Given the description of an element on the screen output the (x, y) to click on. 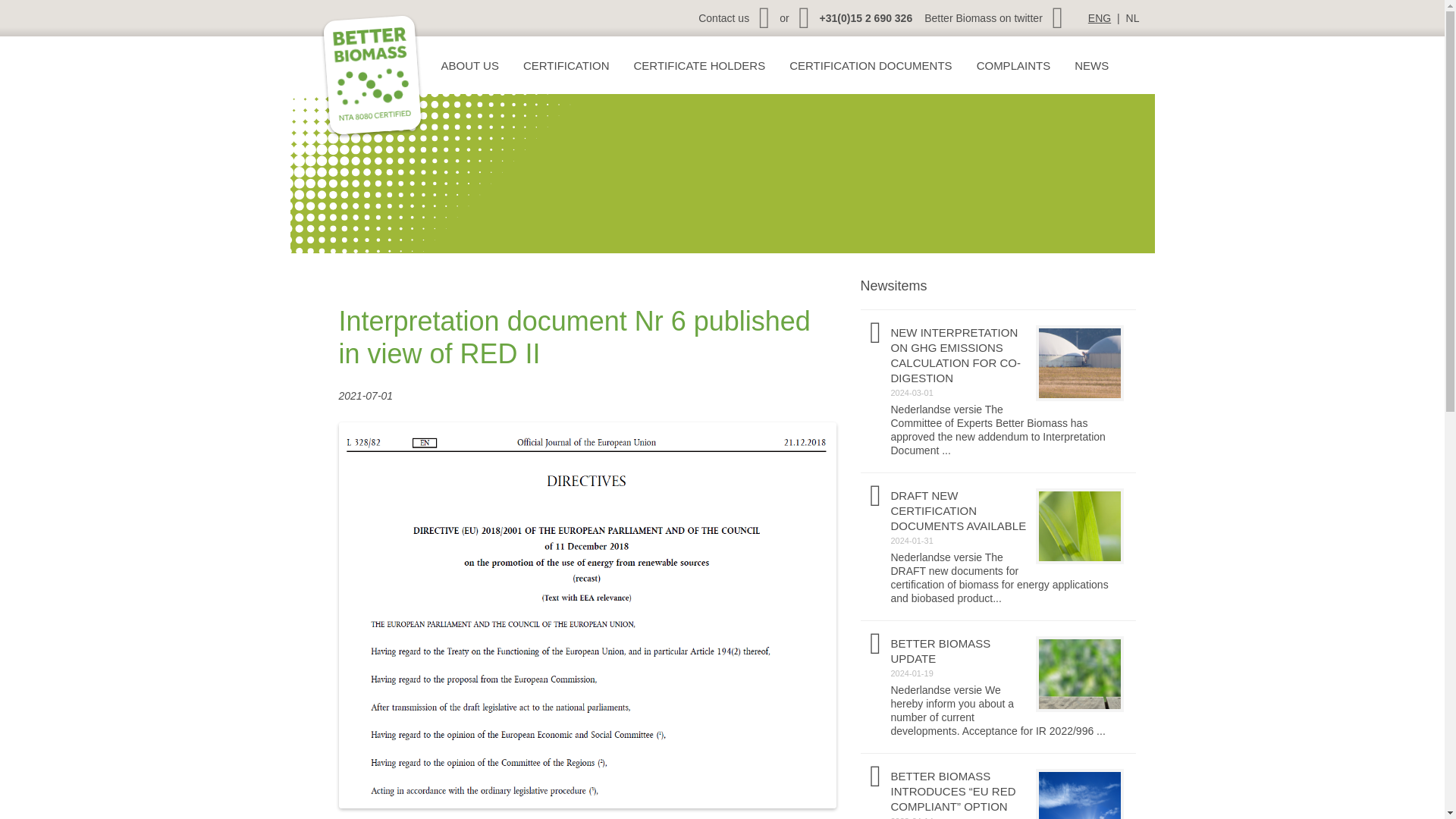
BETTER BIOMASS UPDATE (997, 651)
NEWS (1090, 65)
DRAFT NEW CERTIFICATION DOCUMENTS AVAILABLE (997, 510)
CERTIFICATION DOCUMENTS (869, 65)
ABOUT US (469, 65)
COMPLAINTS (1013, 65)
CERTIFICATE HOLDERS (700, 65)
CERTIFICATION (566, 65)
